Given the description of an element on the screen output the (x, y) to click on. 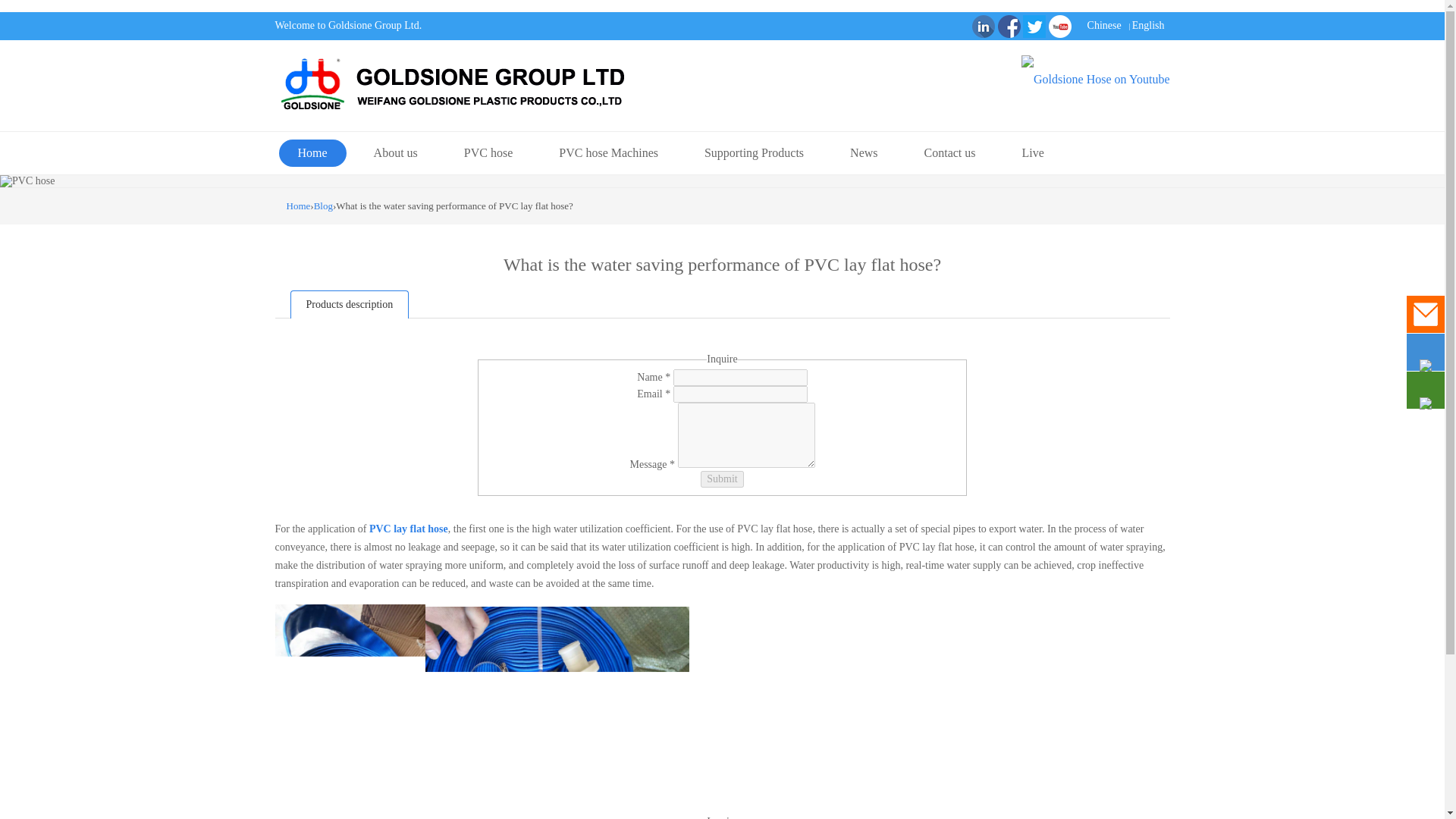
Back to Home page (298, 205)
News (863, 153)
Contact us (949, 153)
Home (312, 153)
About us (395, 153)
English (1148, 25)
PVC hose (488, 153)
PVC hose Machines (608, 153)
Chinese (1104, 25)
Supporting Products (753, 153)
